Given the description of an element on the screen output the (x, y) to click on. 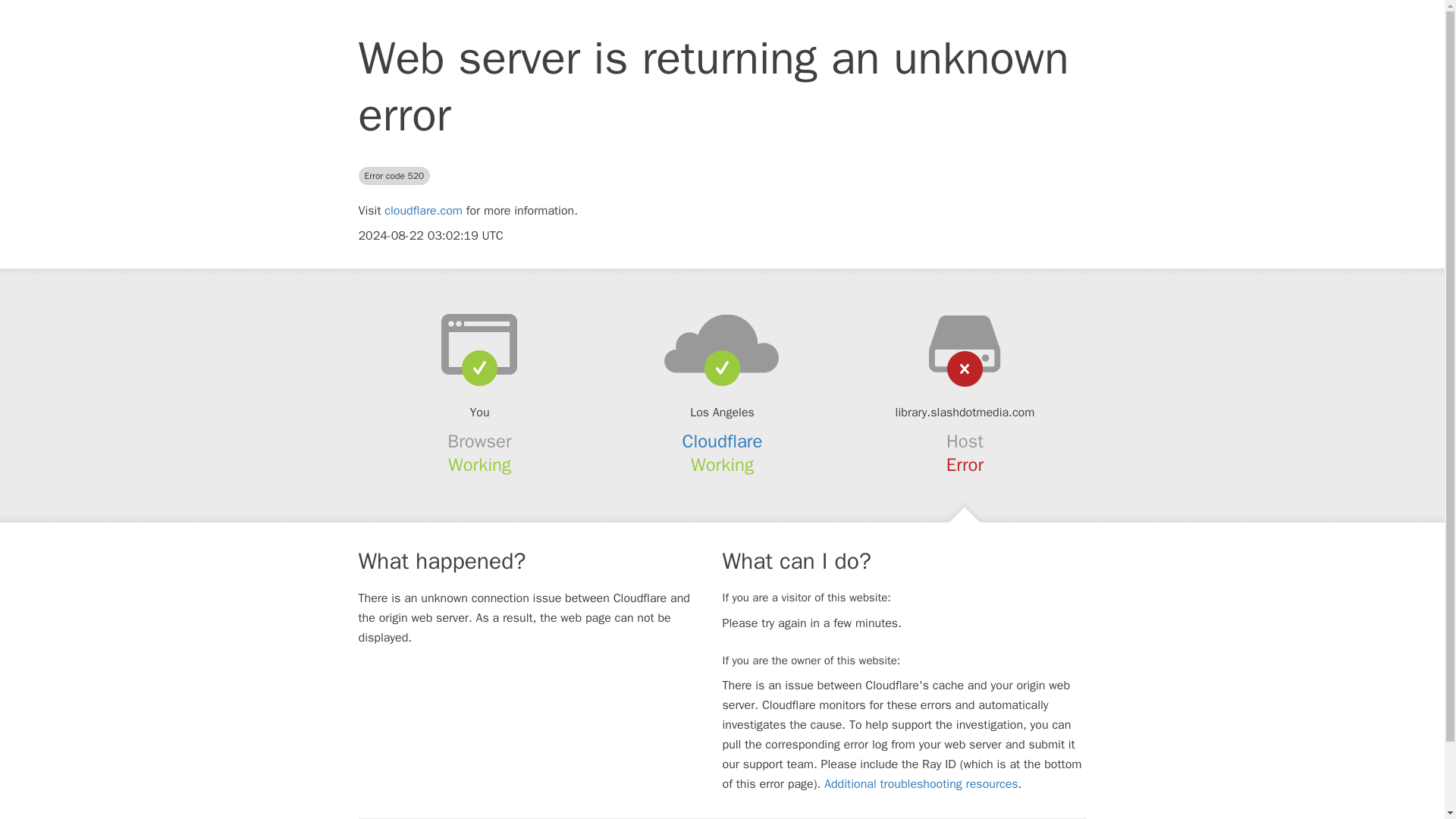
Additional troubleshooting resources (920, 783)
Cloudflare (722, 440)
cloudflare.com (423, 210)
